Given the description of an element on the screen output the (x, y) to click on. 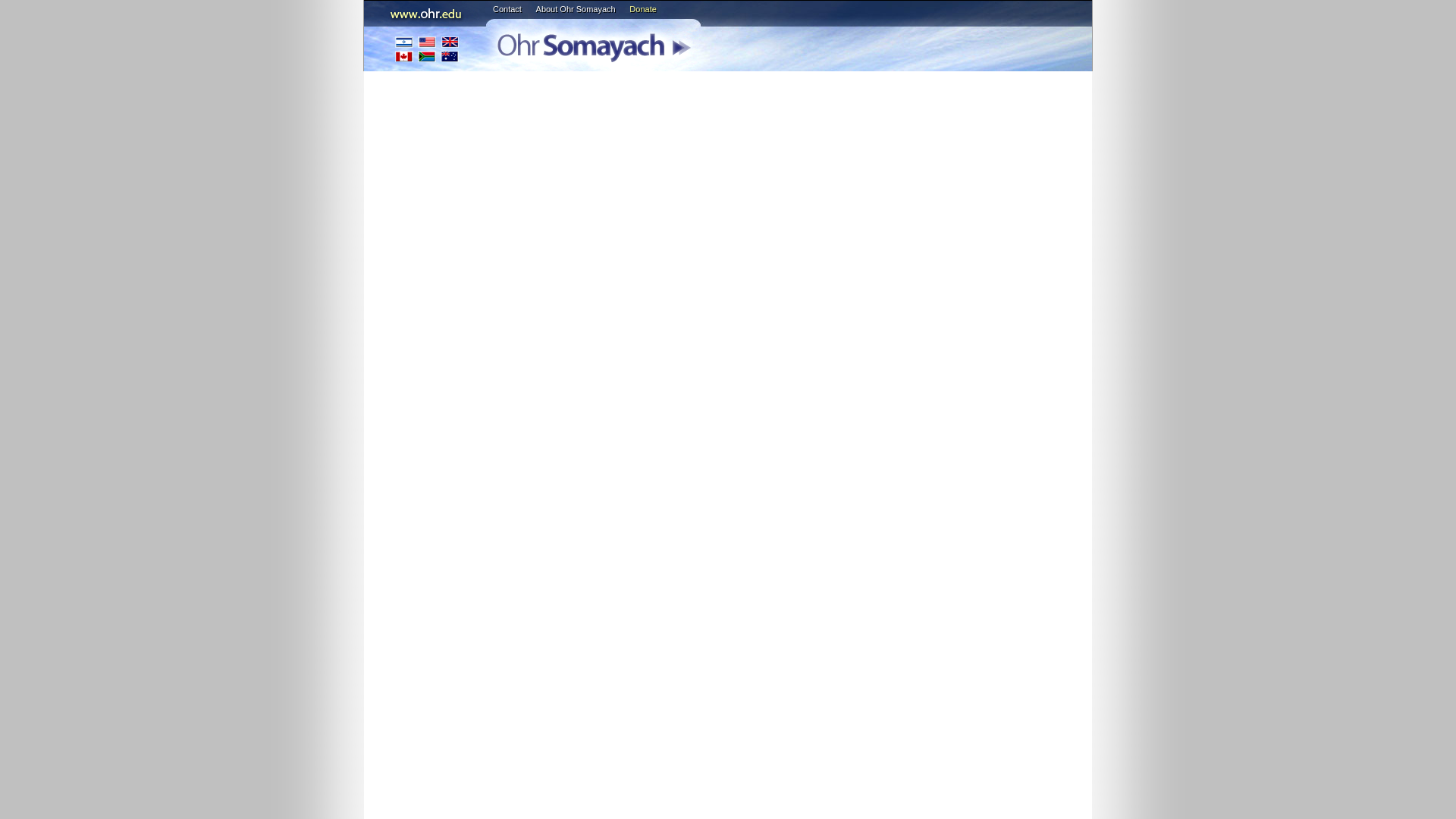
International Branches (427, 49)
Contact (507, 8)
About Ohr Somayach (575, 8)
Donate (642, 8)
International Branches (427, 49)
